Given the description of an element on the screen output the (x, y) to click on. 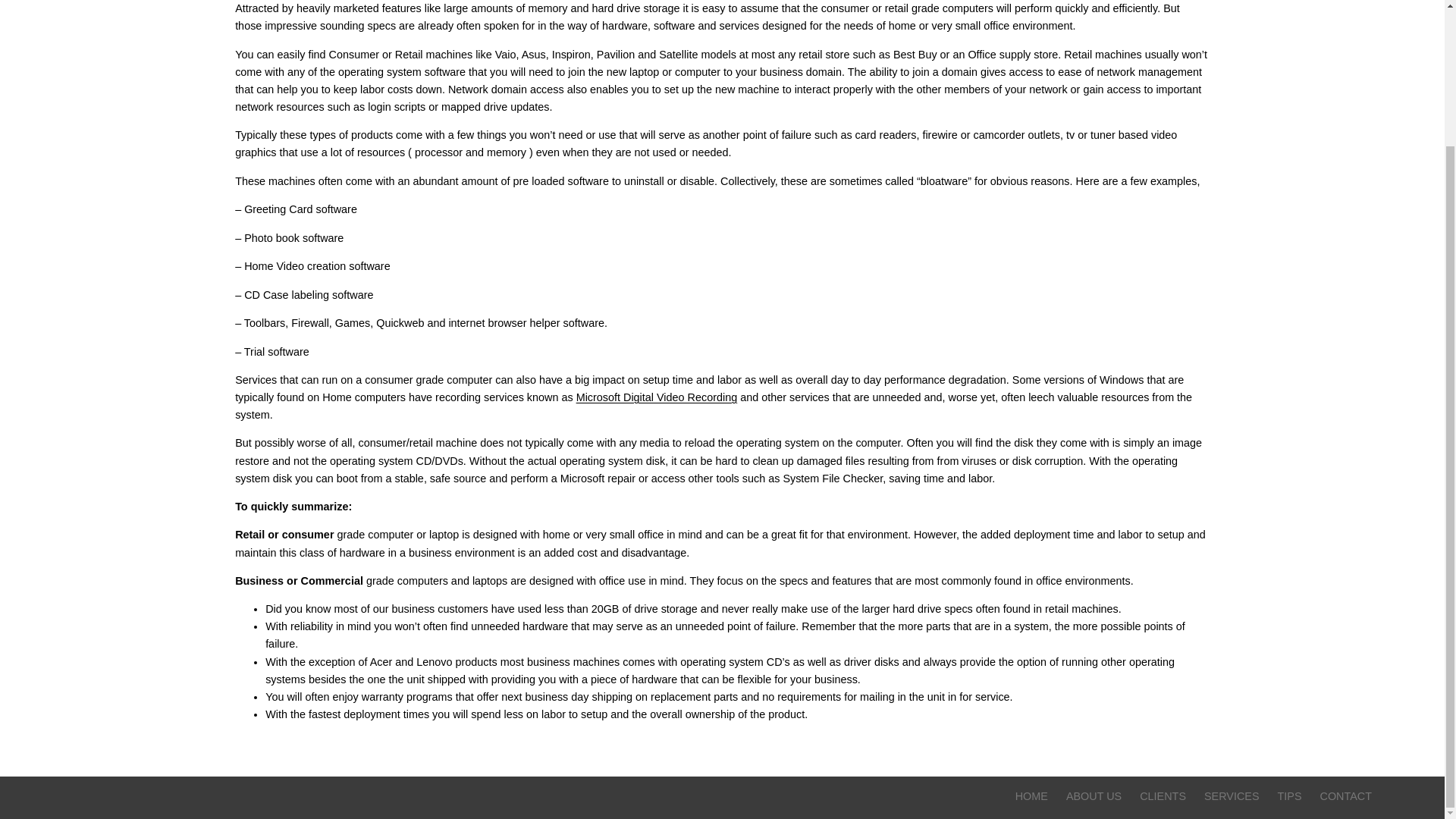
ABOUT US (1093, 796)
Microsoft Digital Video Recording (657, 397)
HOME (1031, 796)
